Given the description of an element on the screen output the (x, y) to click on. 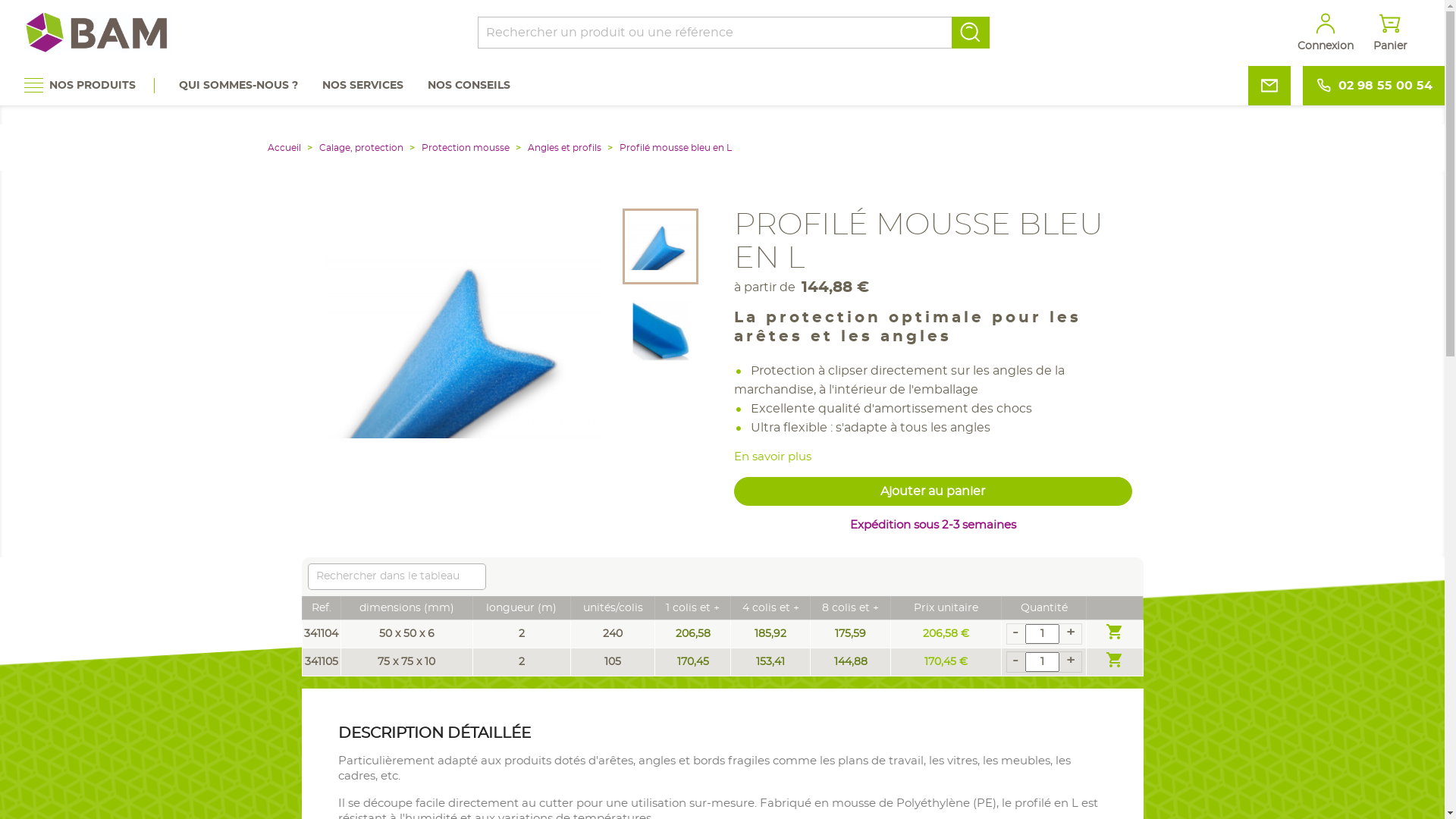
NOS SERVICES Element type: text (362, 85)
QUI SOMMES-NOUS ? Element type: text (238, 85)
- Element type: text (1015, 660)
NOS PRODUITS Element type: text (89, 85)
En savoir plus Element type: text (772, 456)
Ajouter au panier Element type: text (933, 490)
profile-mousse-L Element type: hover (660, 246)
Angles et profils Element type: text (565, 147)
02 98 55 00 54 Element type: text (1373, 85)
1 Element type: text (1042, 633)
Connexion Element type: text (1325, 32)
Accueil Element type: text (284, 147)
+ Element type: text (1070, 660)
- Element type: text (1015, 632)
+ Element type: text (1070, 632)
1 Element type: text (1042, 661)
profile-mousse-L Element type: hover (462, 346)
Protection mousse Element type: text (466, 147)
NOS CONSEILS Element type: text (468, 85)
Calage, protection Element type: text (361, 147)
